Given the description of an element on the screen output the (x, y) to click on. 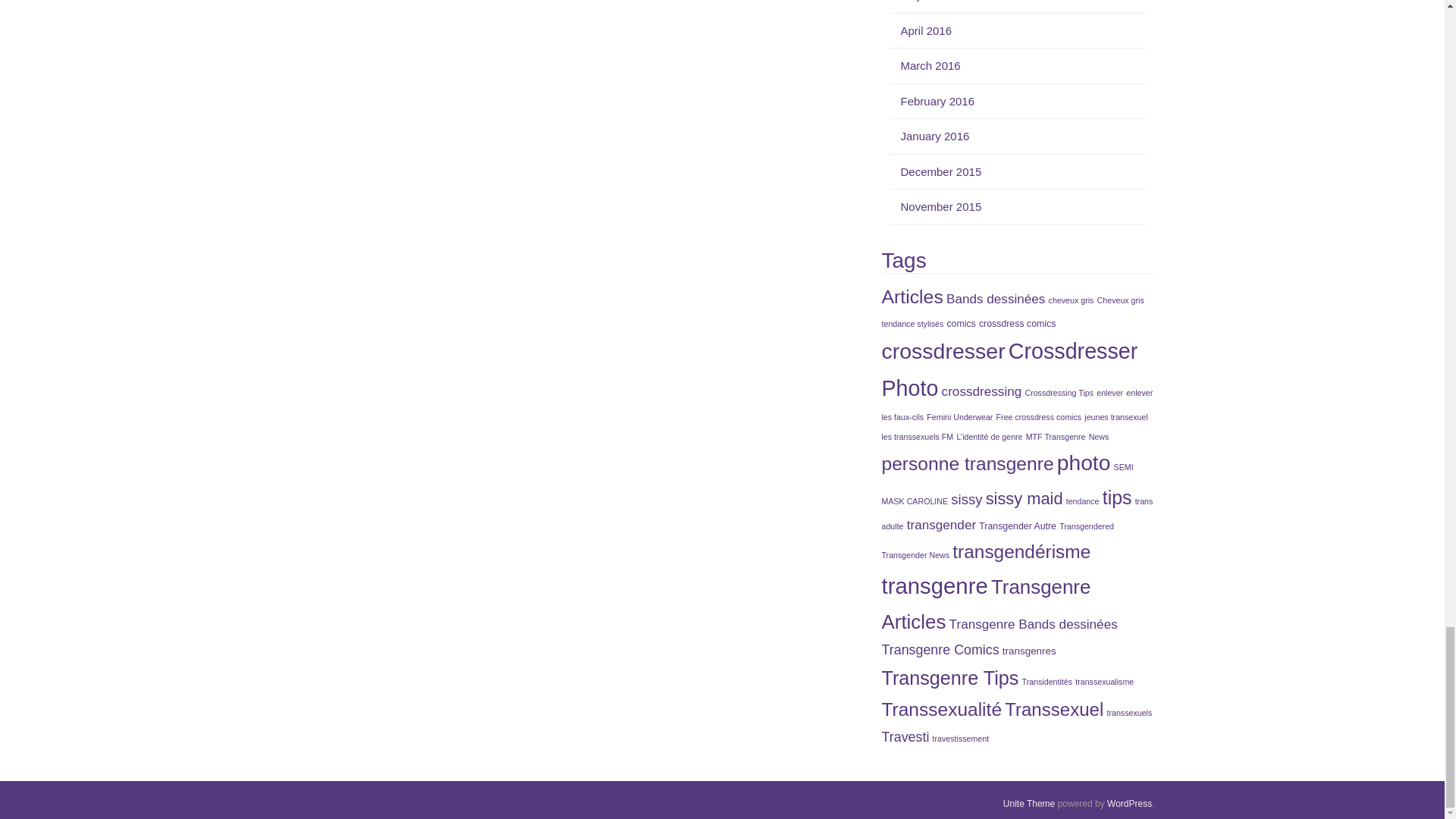
2 topics (1016, 323)
9 topics (995, 298)
169 topics (942, 351)
2 topics (960, 323)
1 topic (1071, 299)
1 topic (1011, 311)
67 topics (911, 296)
